Given the description of an element on the screen output the (x, y) to click on. 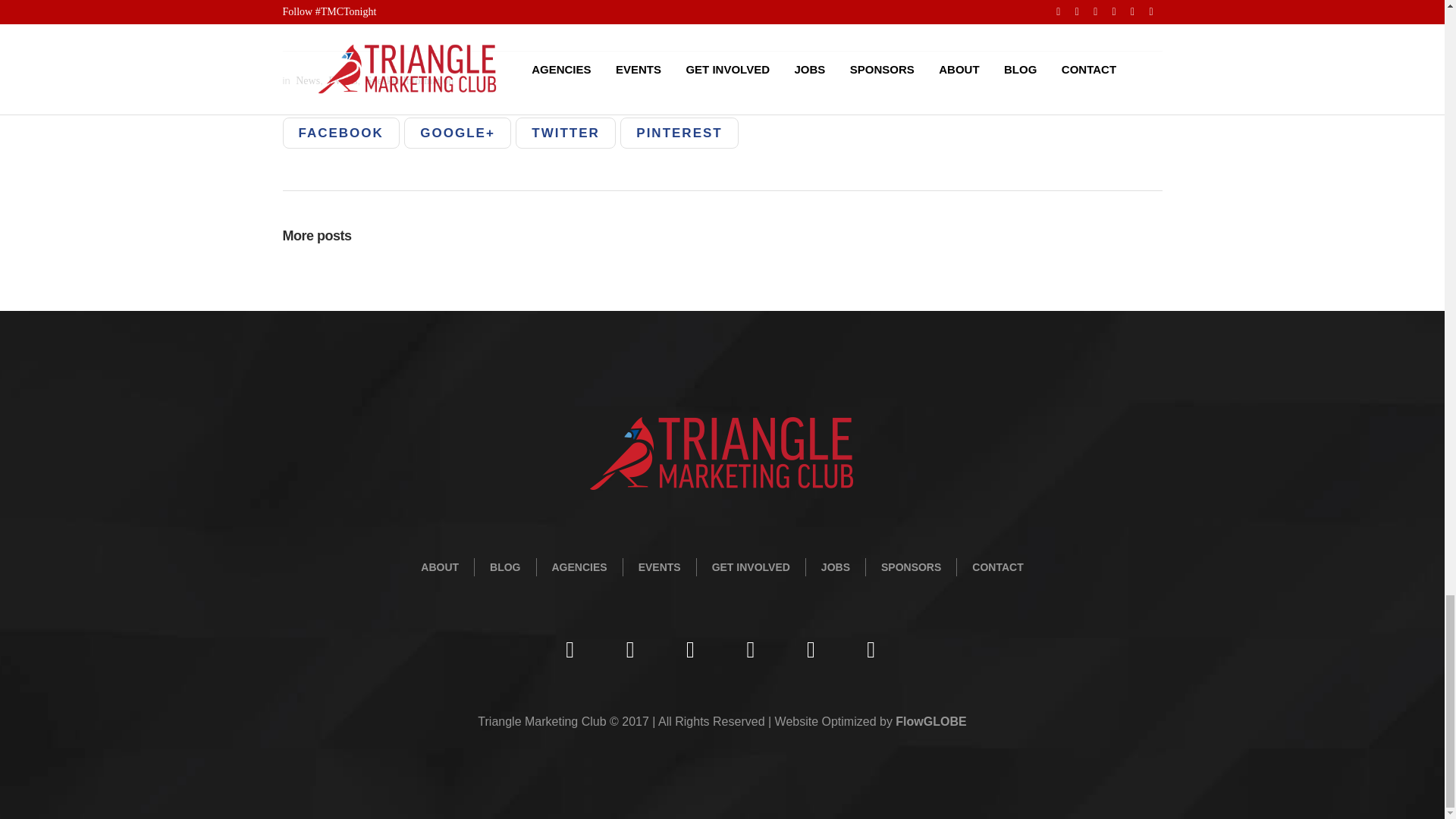
Triangle Marketing Club (722, 453)
PINTEREST (679, 132)
Events (340, 80)
FACEBOOK (340, 132)
News (306, 80)
Speaker Information (407, 80)
TWITTER (565, 132)
